Given the description of an element on the screen output the (x, y) to click on. 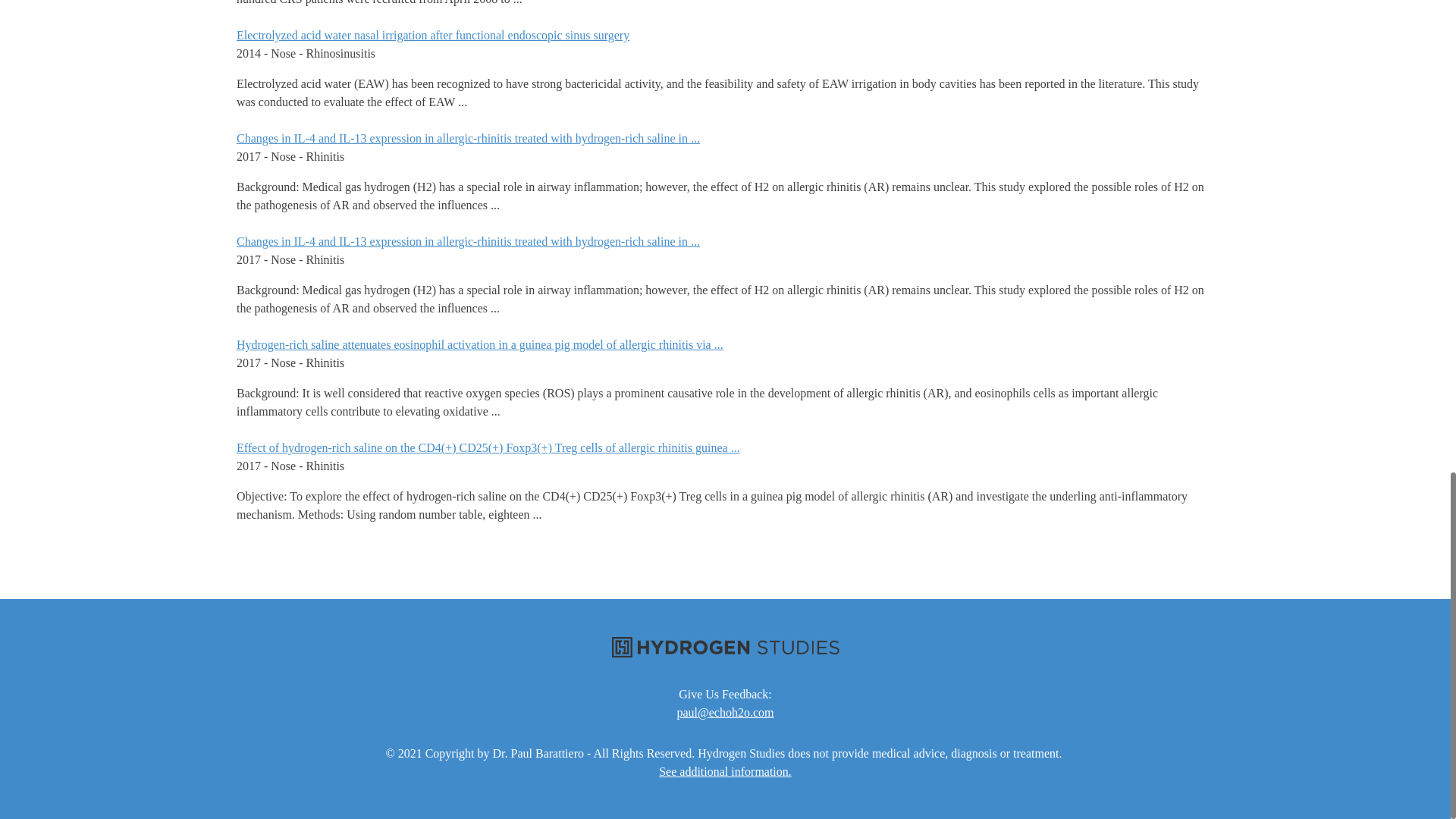
See additional information. (724, 771)
